Given the description of an element on the screen output the (x, y) to click on. 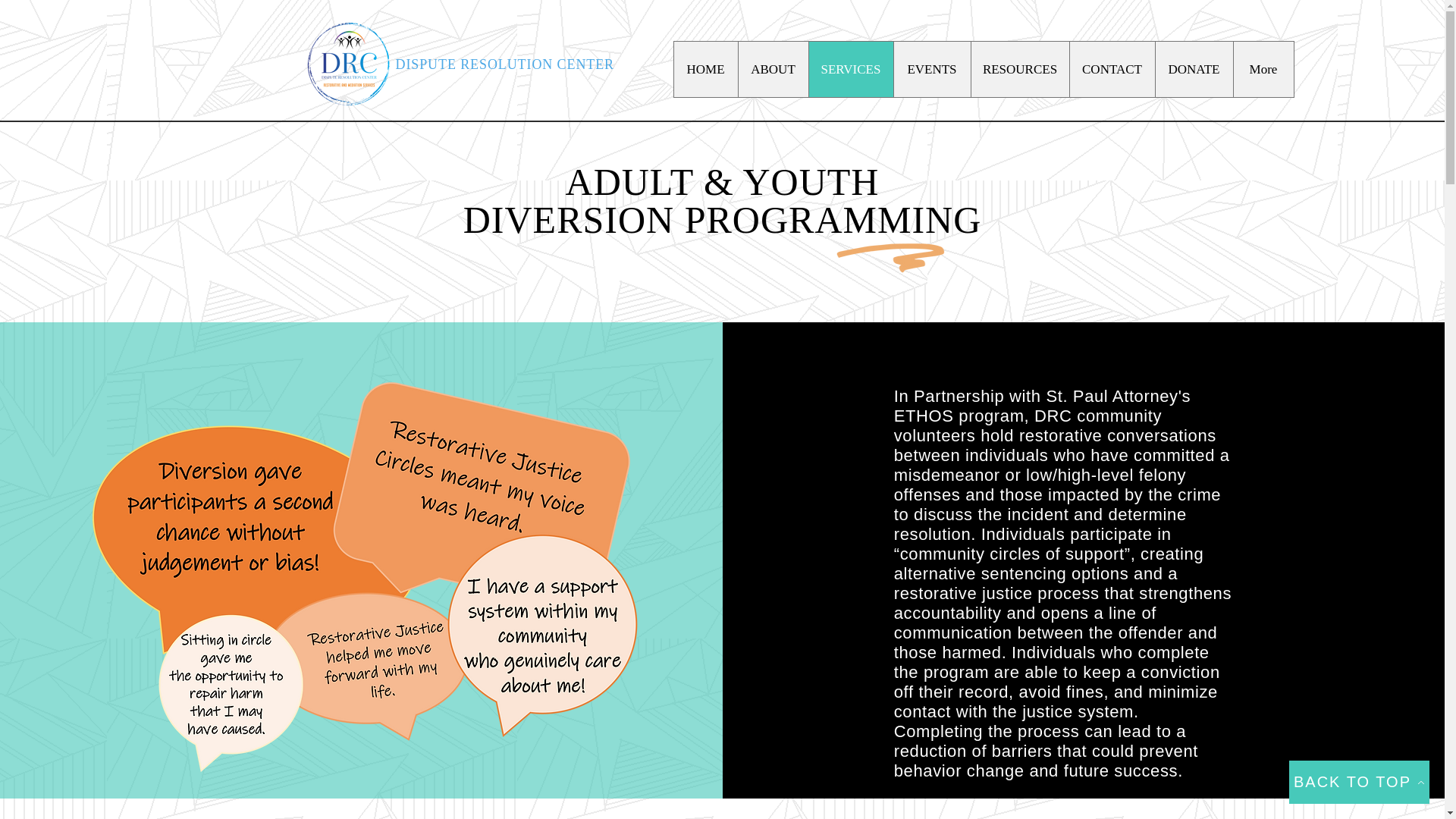
EVENTS (932, 69)
ABOUT (772, 69)
BACK TO TOP (1358, 781)
RESOURCES (1019, 69)
SERVICES (850, 69)
DONATE (1192, 69)
HOME (704, 69)
CONTACT (1111, 69)
